Given the description of an element on the screen output the (x, y) to click on. 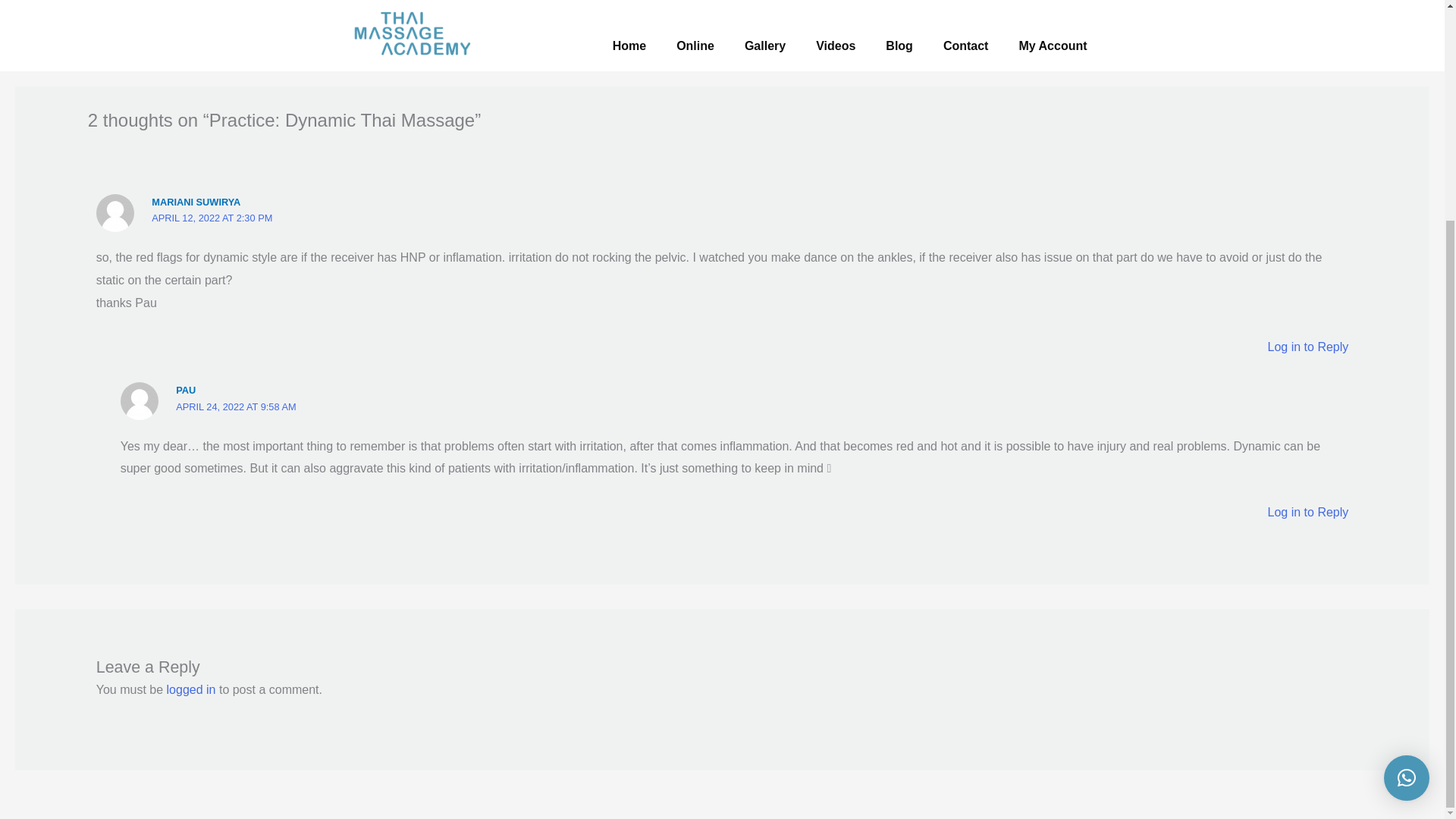
APRIL 24, 2022 AT 9:58 AM (235, 406)
Log in to Reply (1308, 512)
APRIL 12, 2022 AT 2:30 PM (211, 217)
Log in to Reply (1308, 346)
logged in (191, 689)
